Given the description of an element on the screen output the (x, y) to click on. 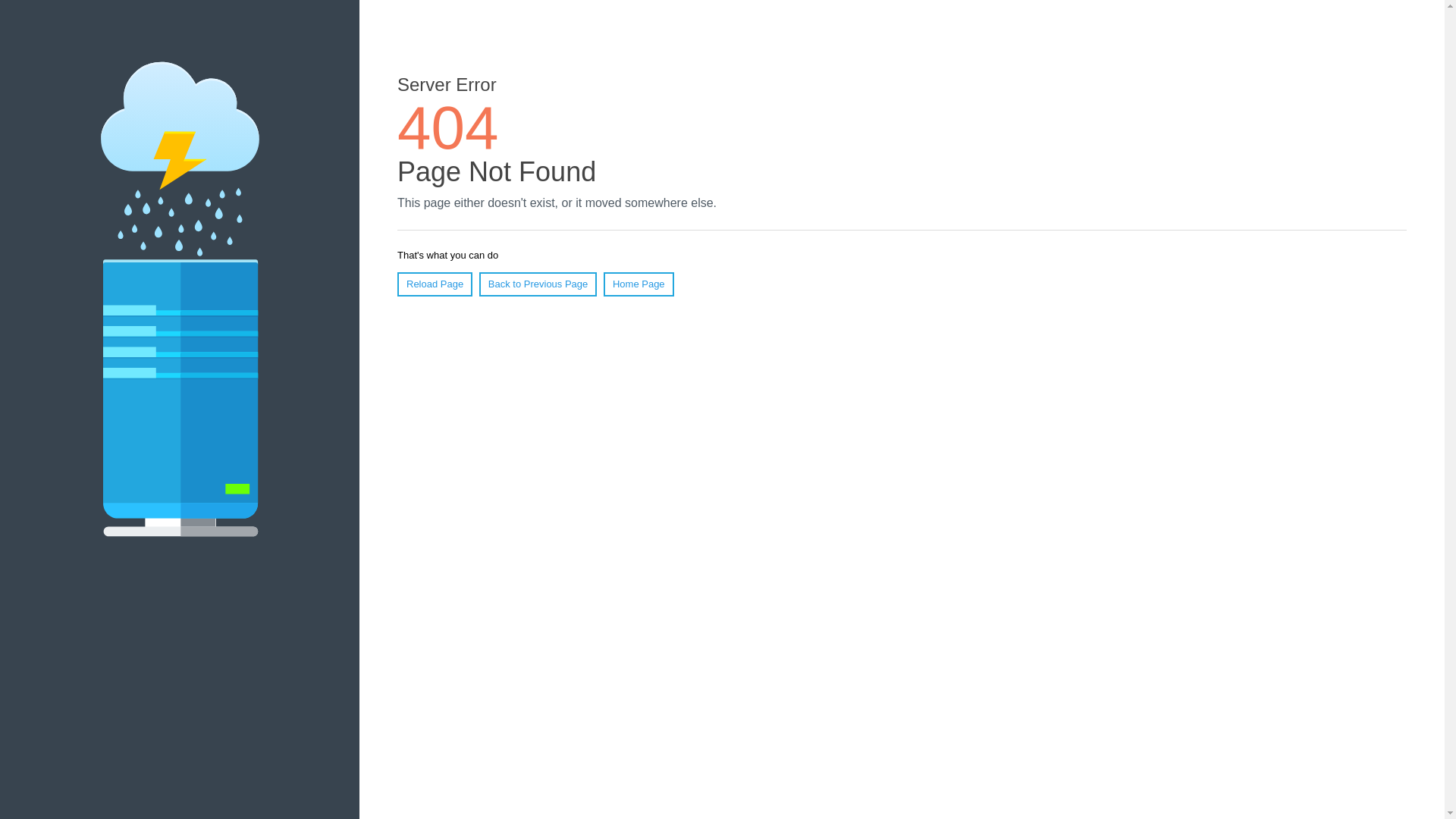
Back to Previous Page (537, 283)
Reload Page (434, 283)
Home Page (639, 283)
